Given the description of an element on the screen output the (x, y) to click on. 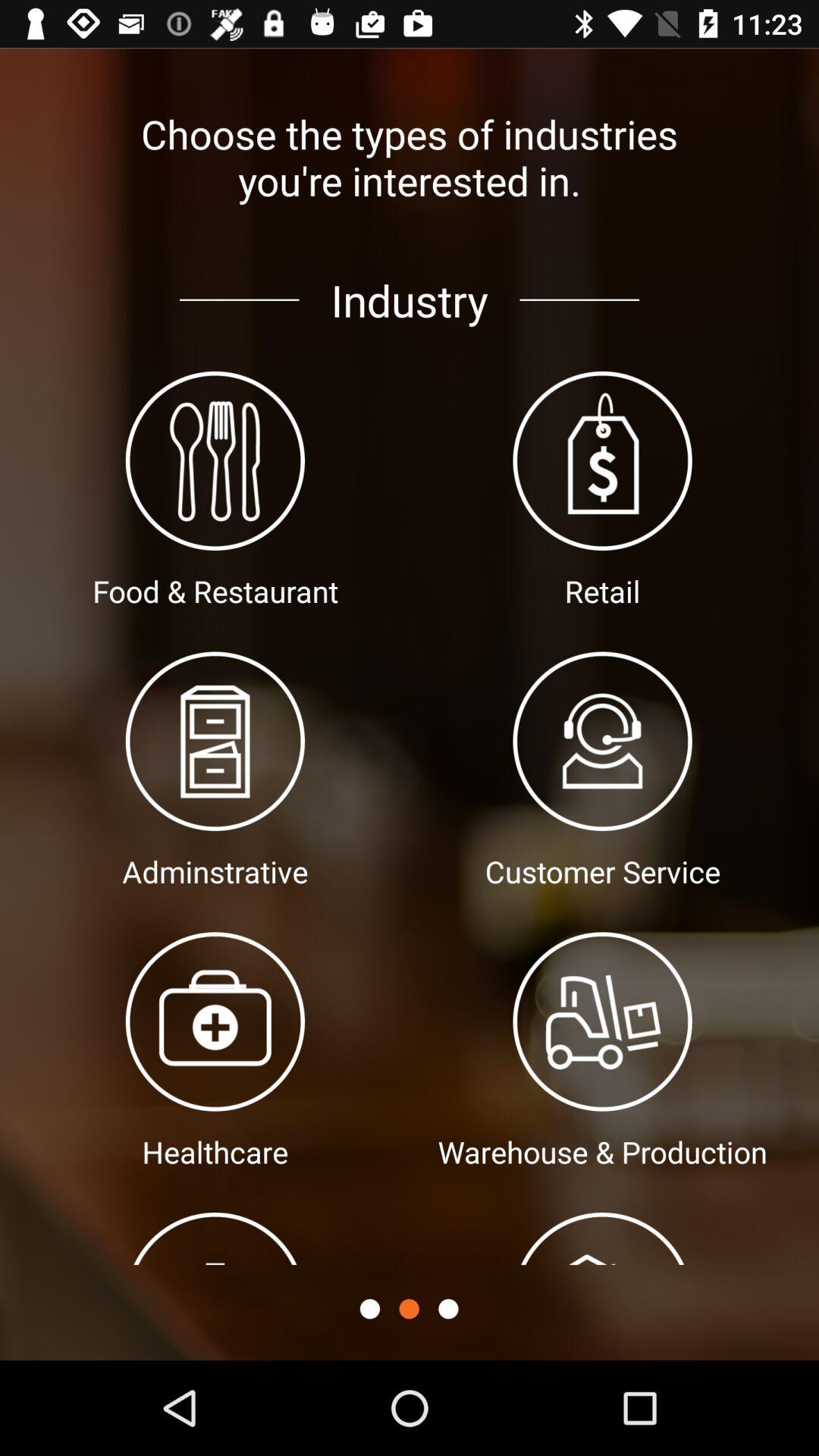
next option (448, 1308)
